Given the description of an element on the screen output the (x, y) to click on. 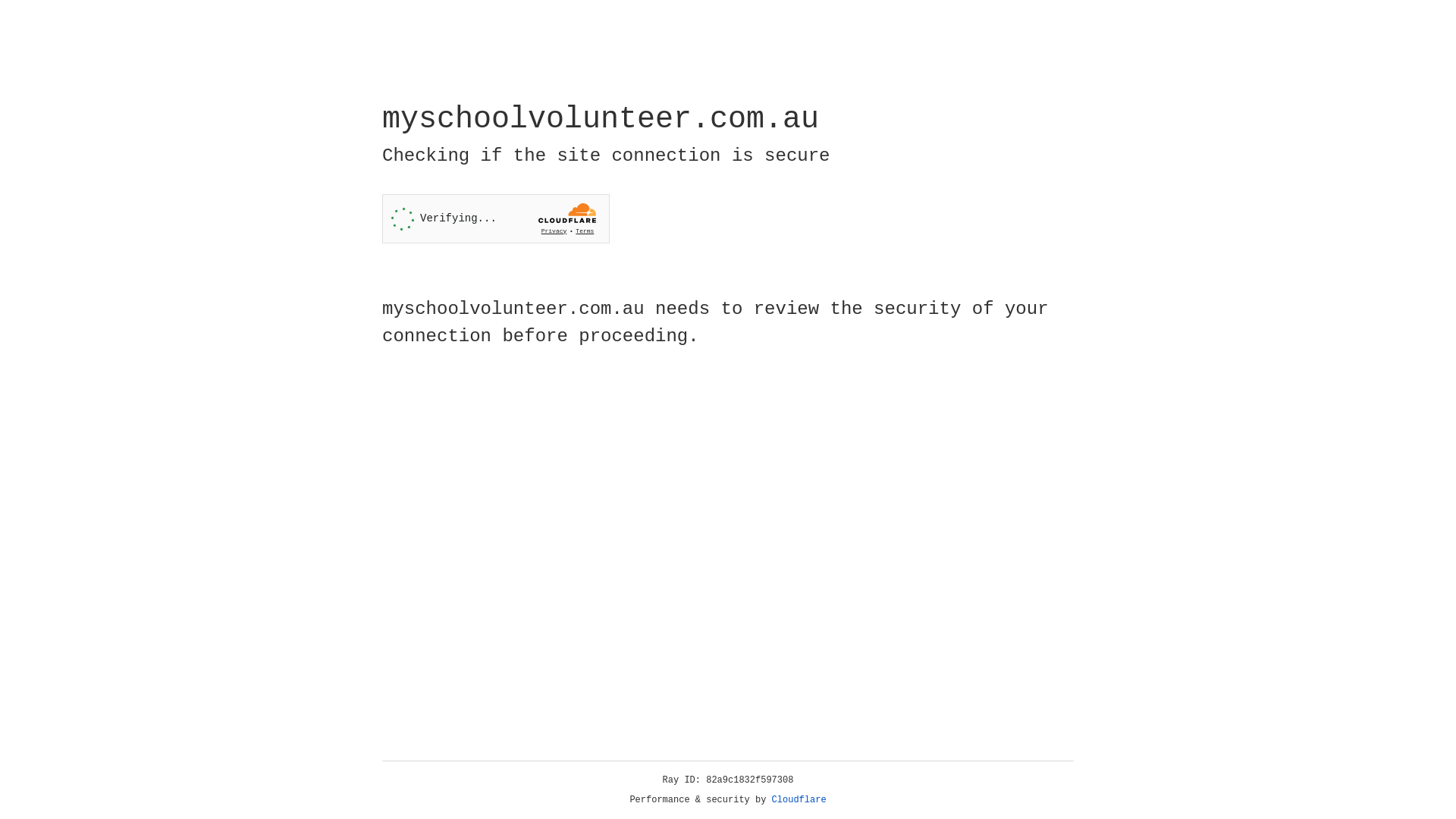
Cloudflare Element type: text (798, 799)
Widget containing a Cloudflare security challenge Element type: hover (495, 218)
